Given the description of an element on the screen output the (x, y) to click on. 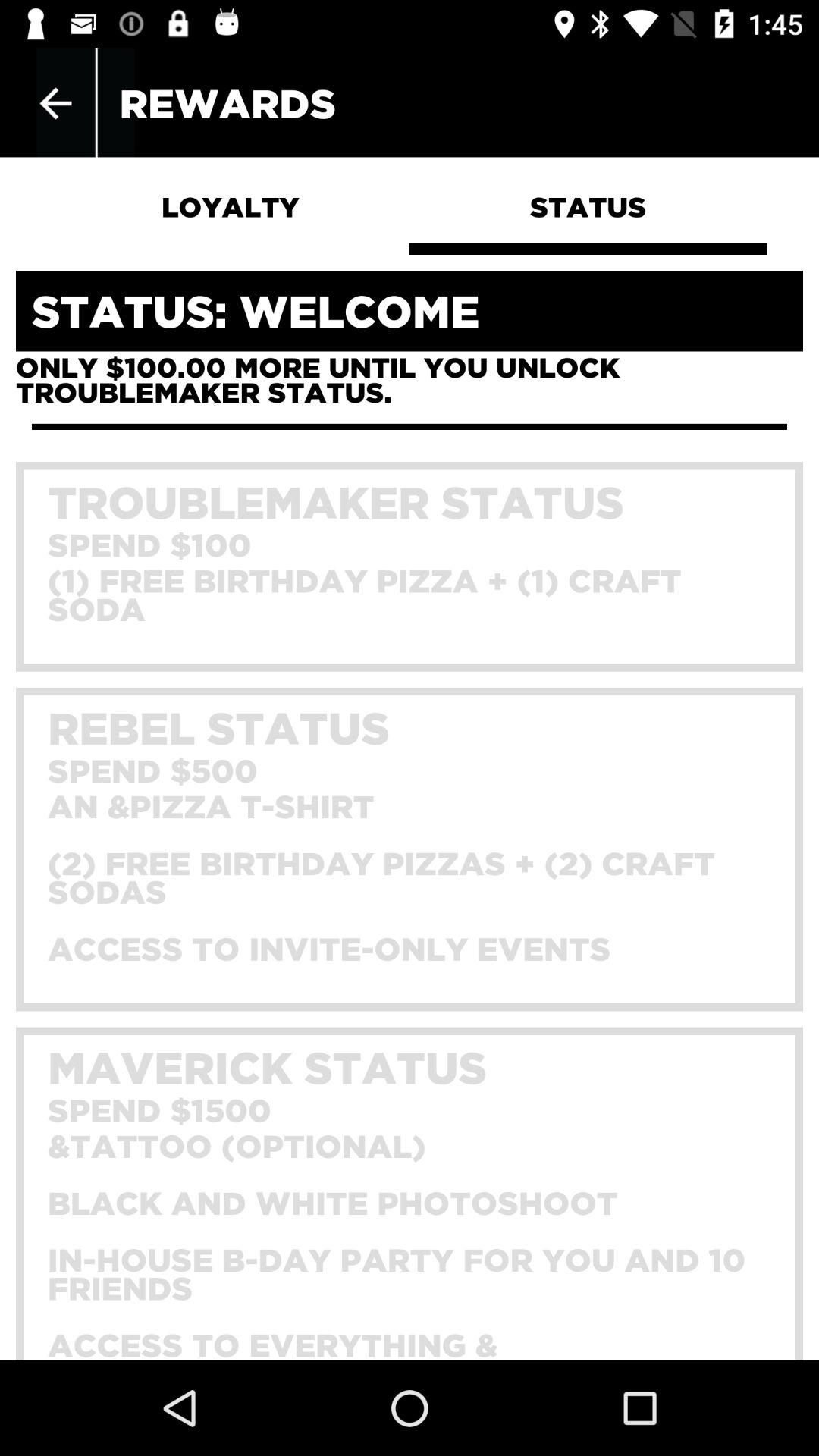
open item to the left of the rewards icon (55, 103)
